Given the description of an element on the screen output the (x, y) to click on. 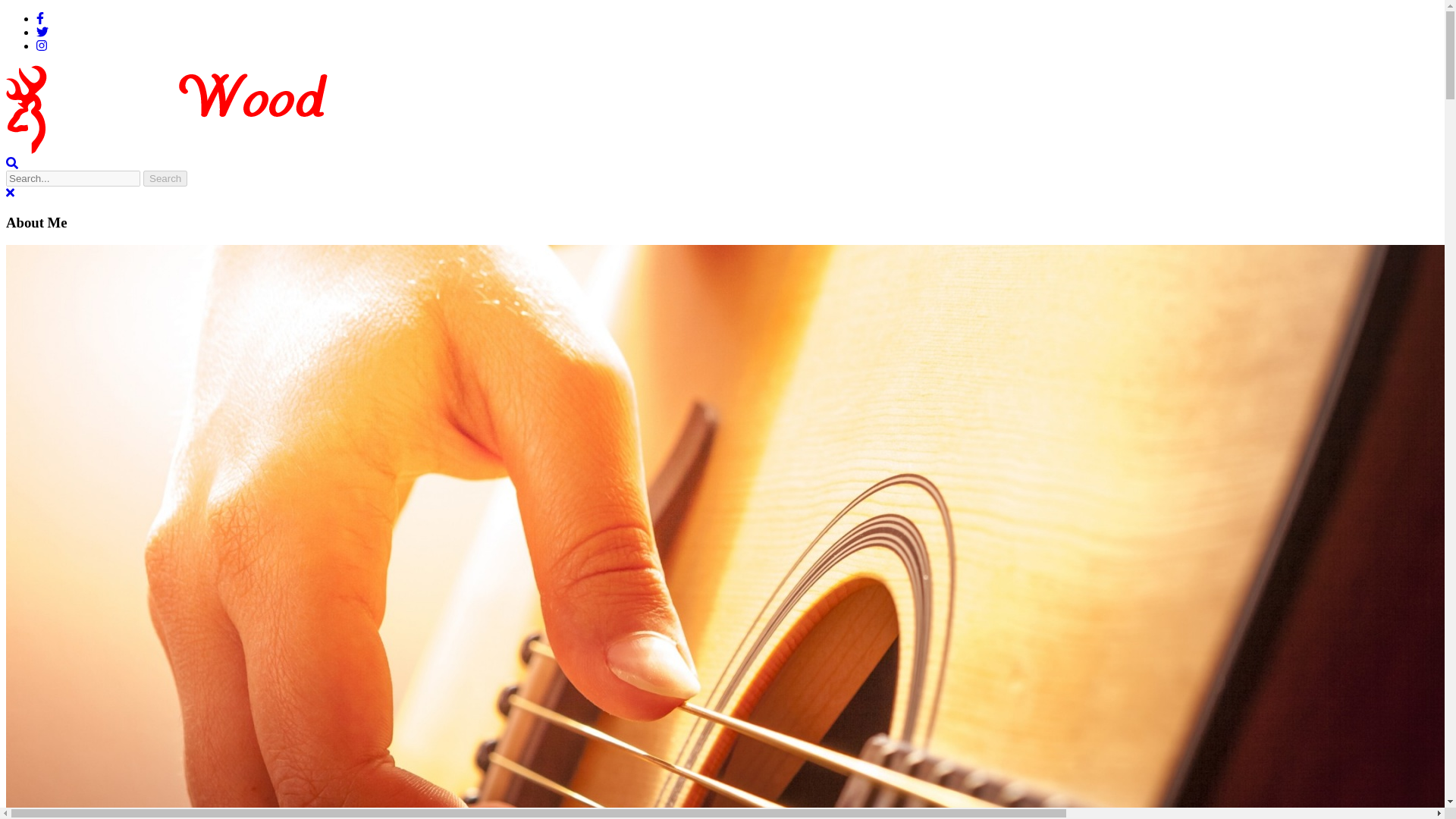
Lake Wood Christian Church (104, 163)
Search (164, 178)
Search (164, 178)
Search (164, 178)
